Given the description of an element on the screen output the (x, y) to click on. 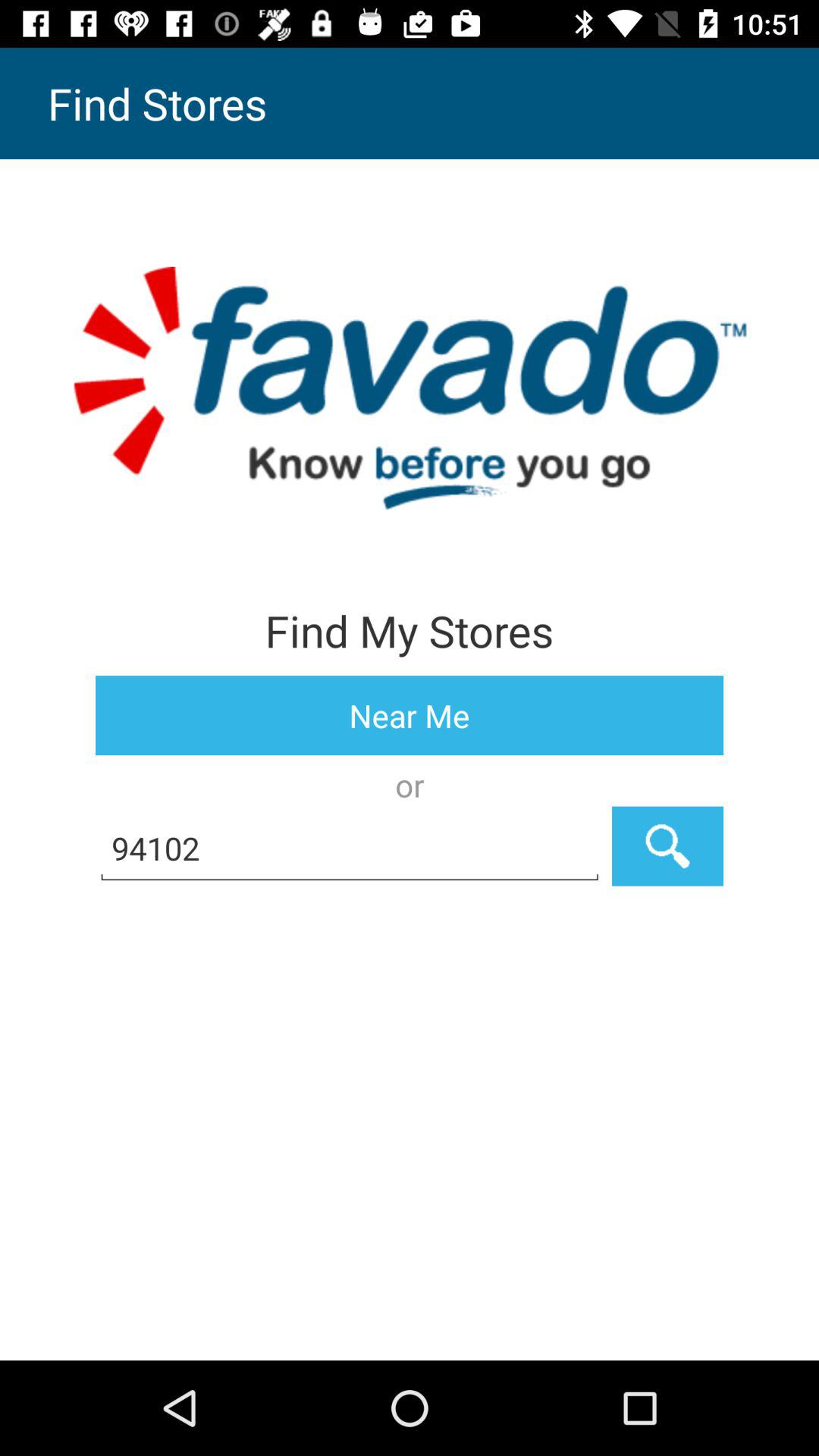
confirm search (667, 846)
